Given the description of an element on the screen output the (x, y) to click on. 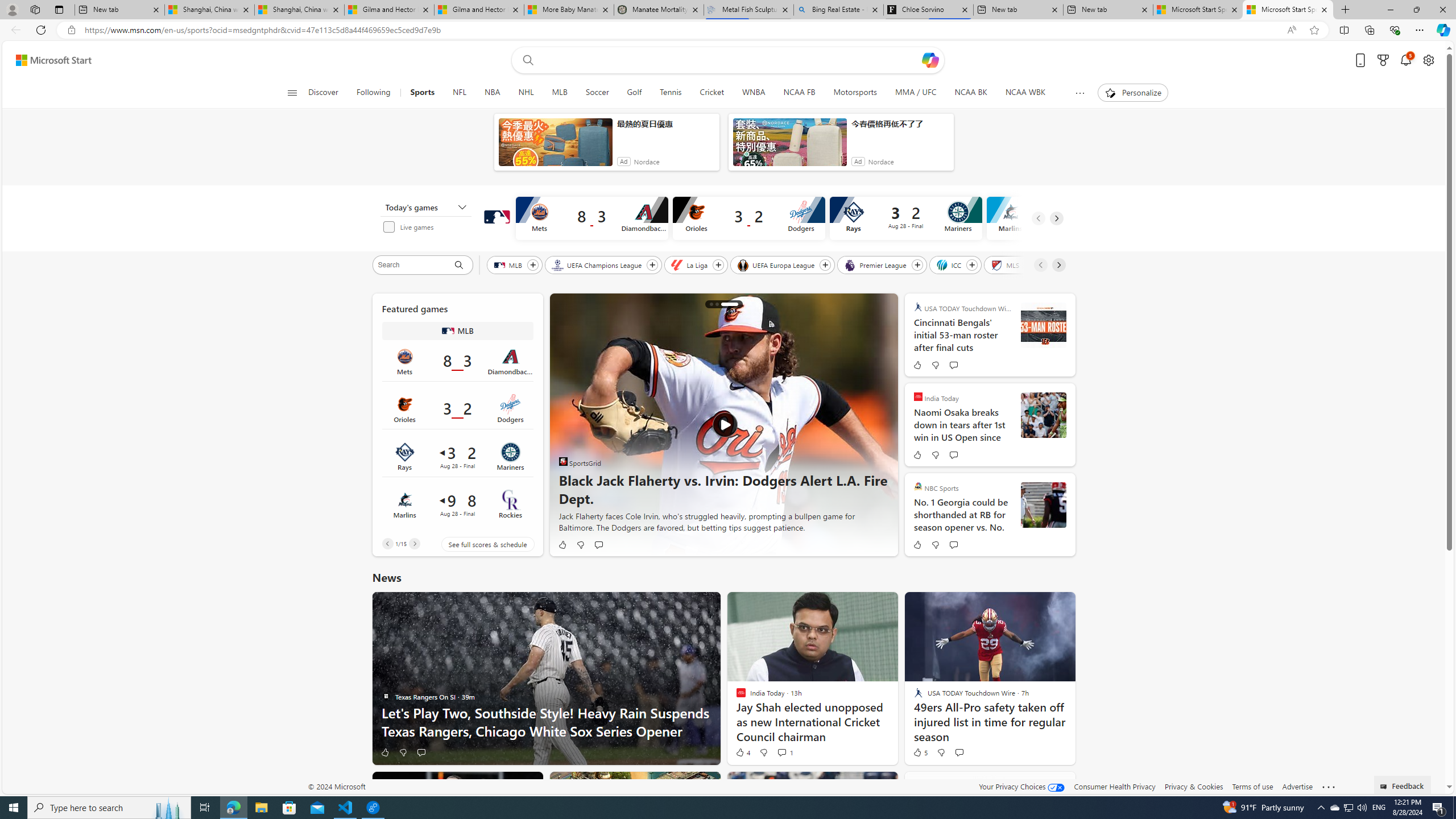
NFL (460, 92)
Notifications (1405, 60)
Previous (387, 543)
